Given the description of an element on the screen output the (x, y) to click on. 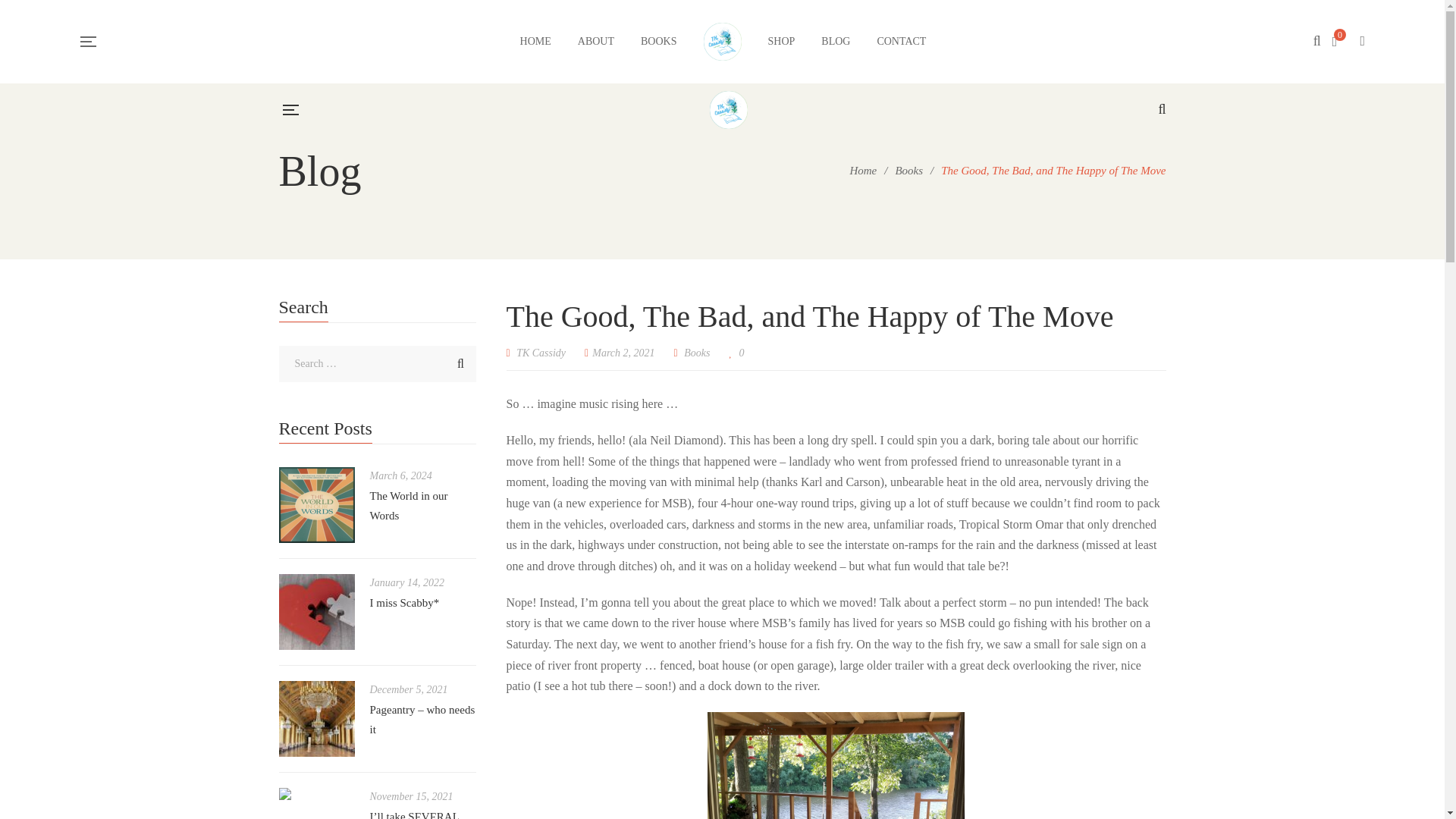
January 14, 2022 (406, 582)
November 15, 2021 (410, 796)
Books (697, 352)
Books (909, 170)
December 5, 2021 (408, 689)
TK Cassidy (536, 352)
The World in our Words (408, 505)
March 6, 2024 (400, 475)
Home (862, 170)
BOOKS (658, 41)
